Given the description of an element on the screen output the (x, y) to click on. 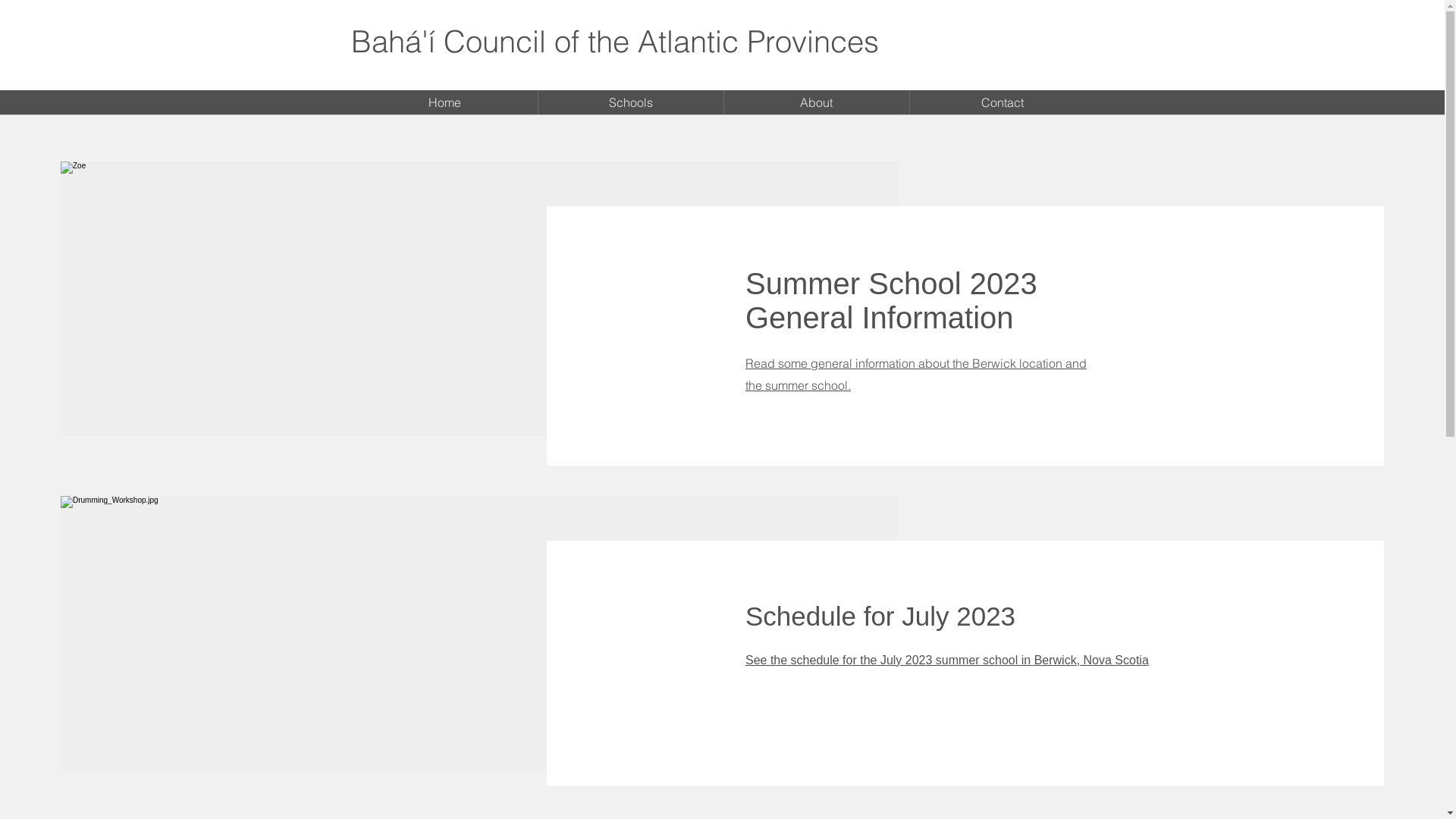
Home Element type: text (444, 102)
Contact Element type: text (1002, 102)
